Given the description of an element on the screen output the (x, y) to click on. 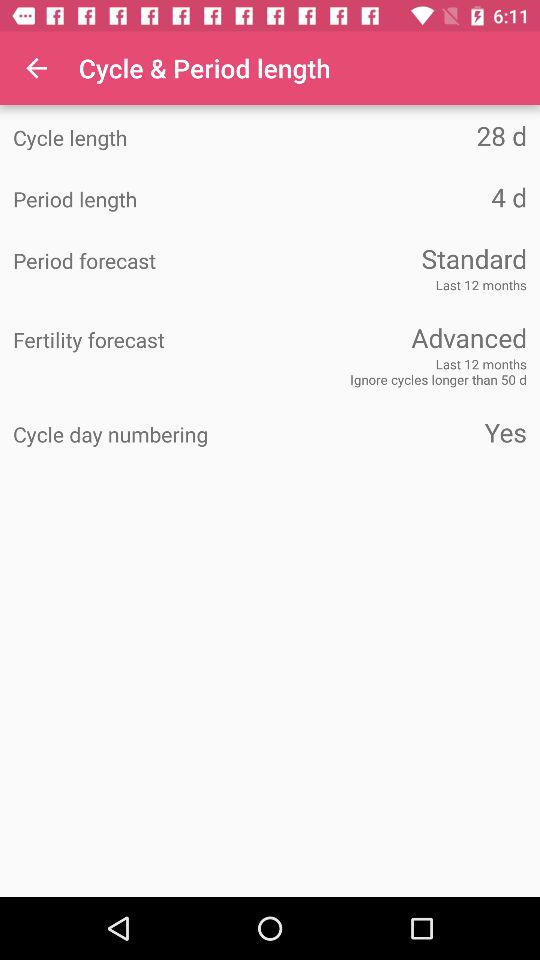
select item next to yes item (141, 435)
